Given the description of an element on the screen output the (x, y) to click on. 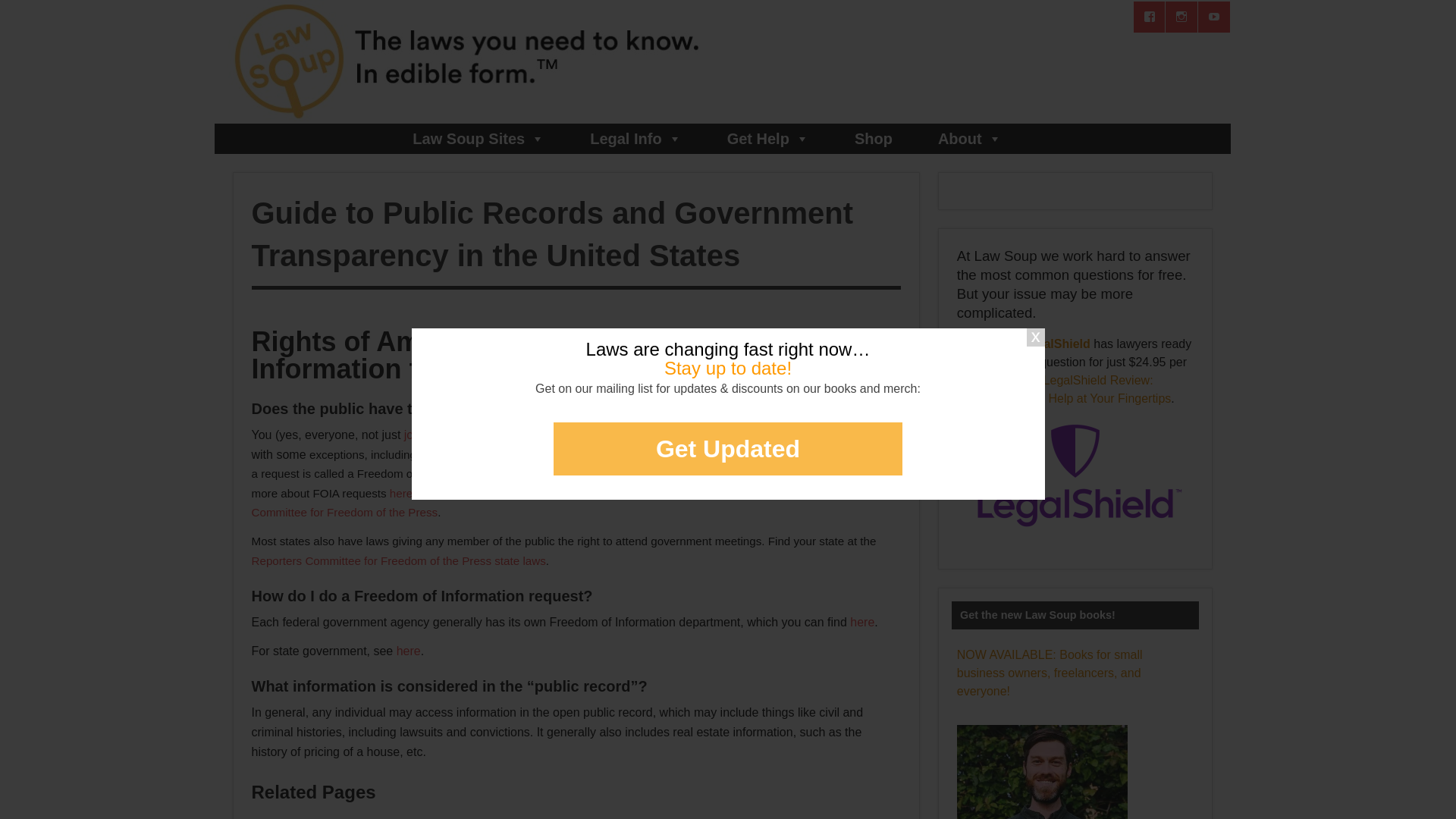
Legal Info (635, 138)
Law Soup (486, 116)
Law Soup Sites (477, 138)
